Given the description of an element on the screen output the (x, y) to click on. 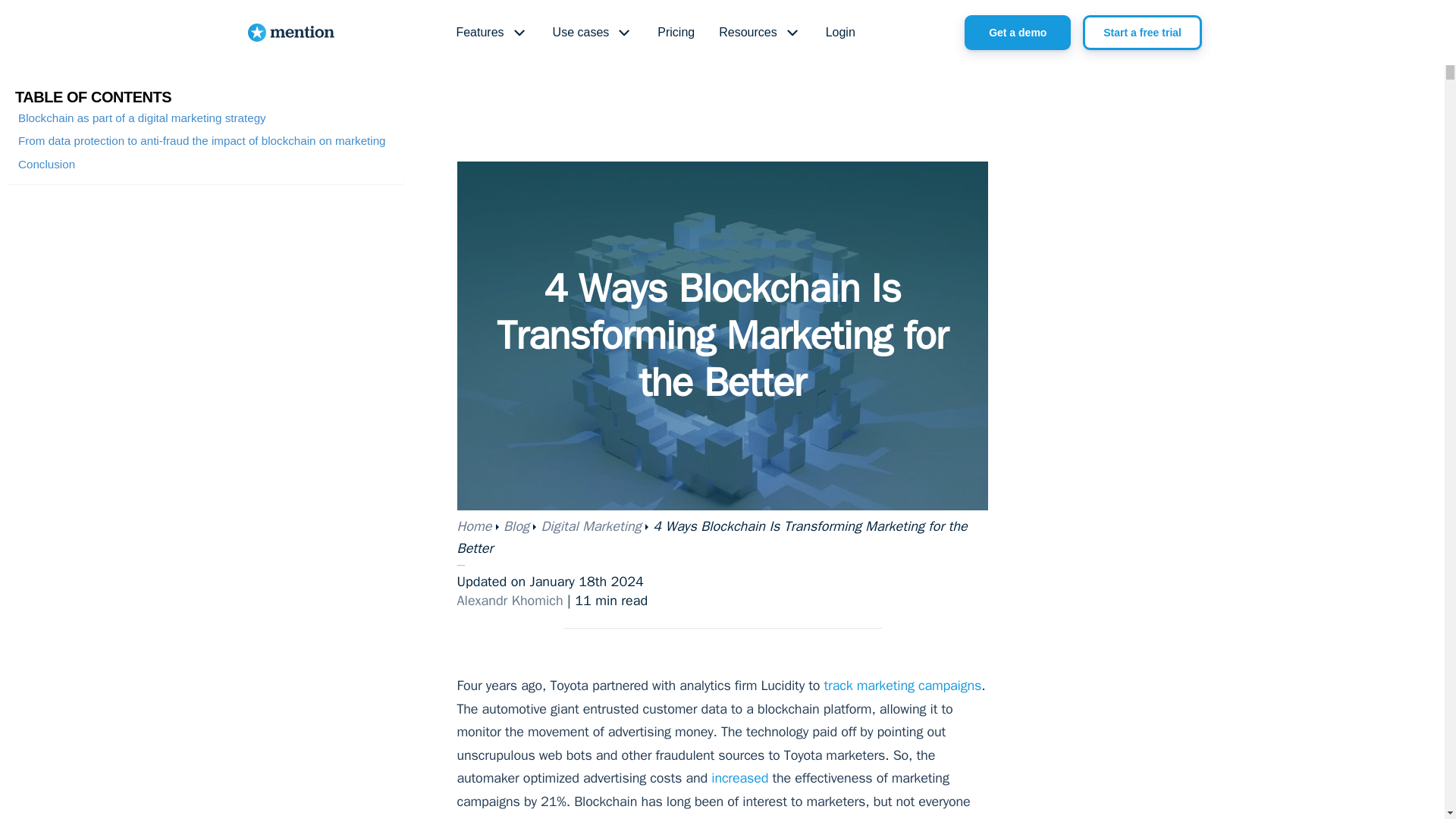
Conclusion (46, 164)
Blockchain as part of a digital marketing strategy (141, 117)
Pricing (675, 33)
